Given the description of an element on the screen output the (x, y) to click on. 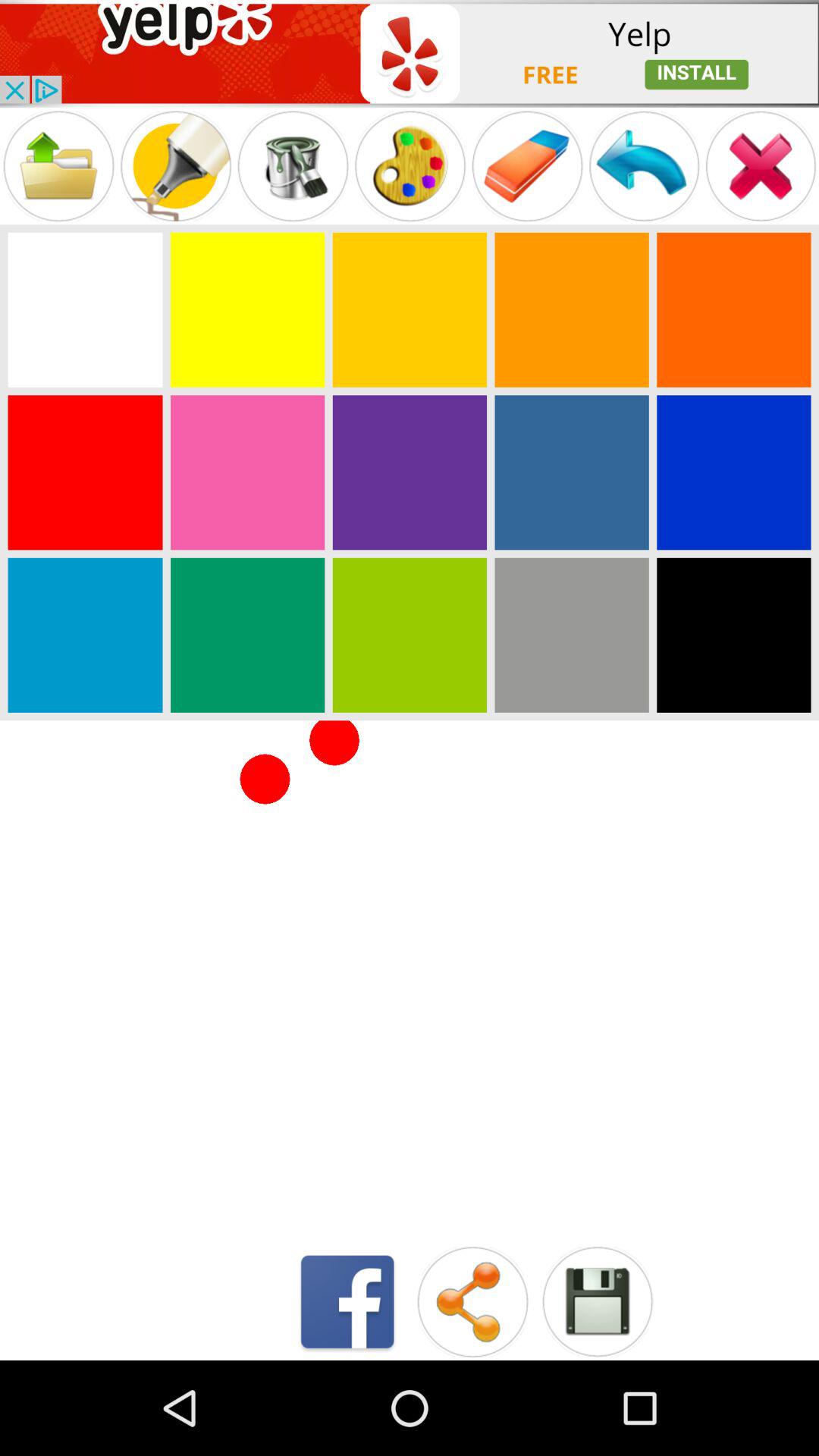
select paint bucket (292, 165)
